Given the description of an element on the screen output the (x, y) to click on. 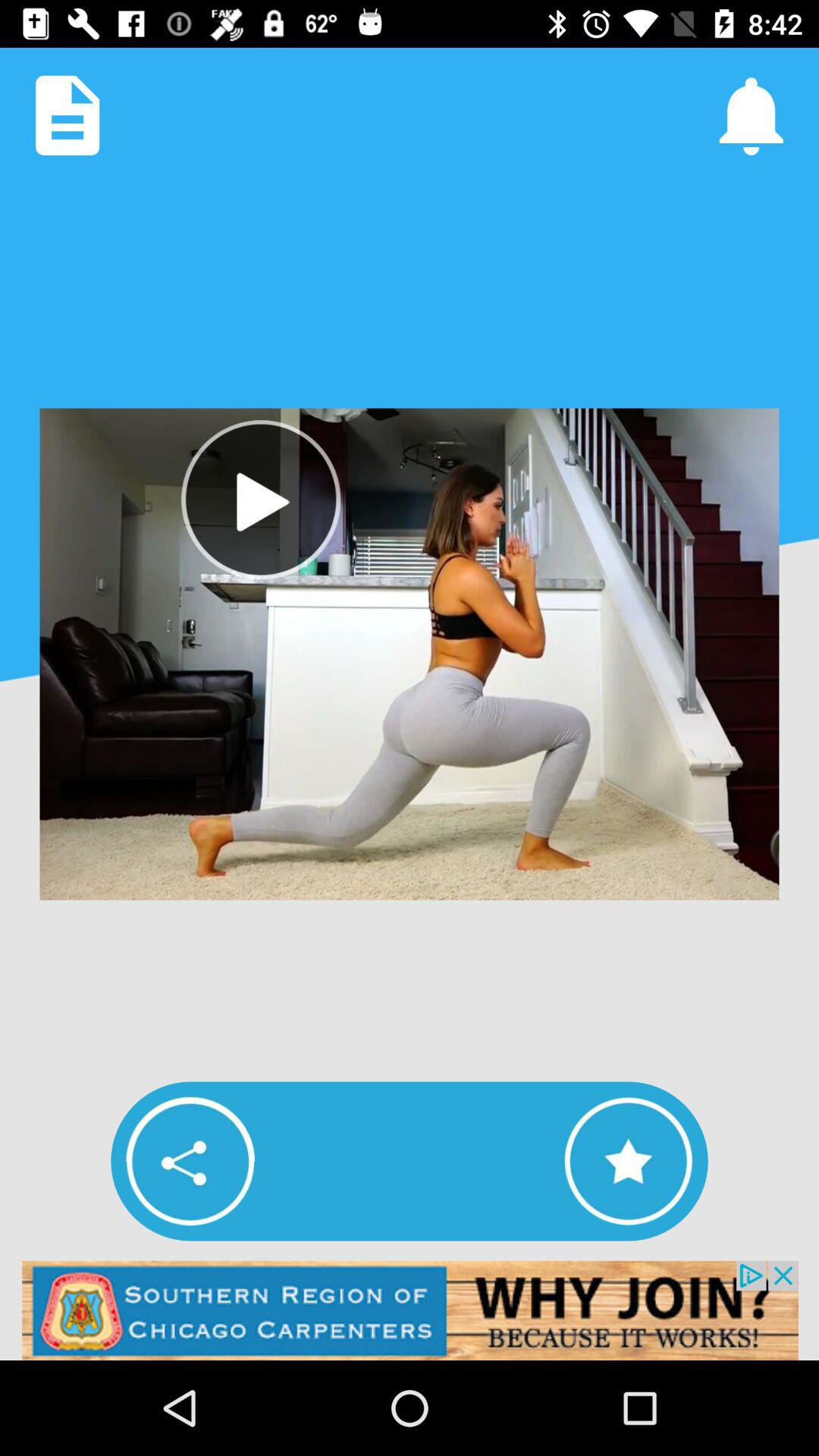
share this video (190, 1161)
